Given the description of an element on the screen output the (x, y) to click on. 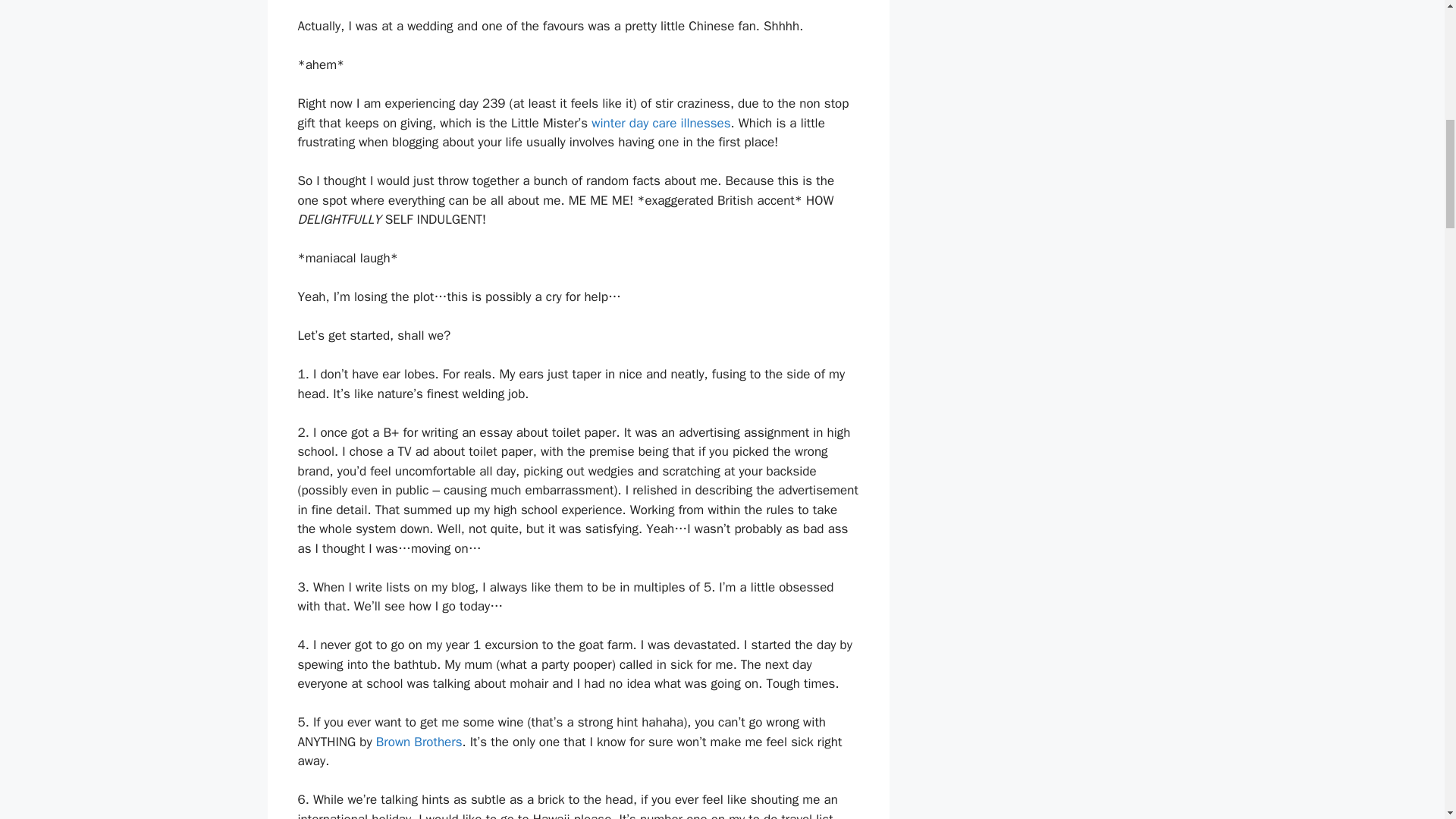
Brown Brothers (419, 741)
winter day care illnesses (660, 123)
